Given the description of an element on the screen output the (x, y) to click on. 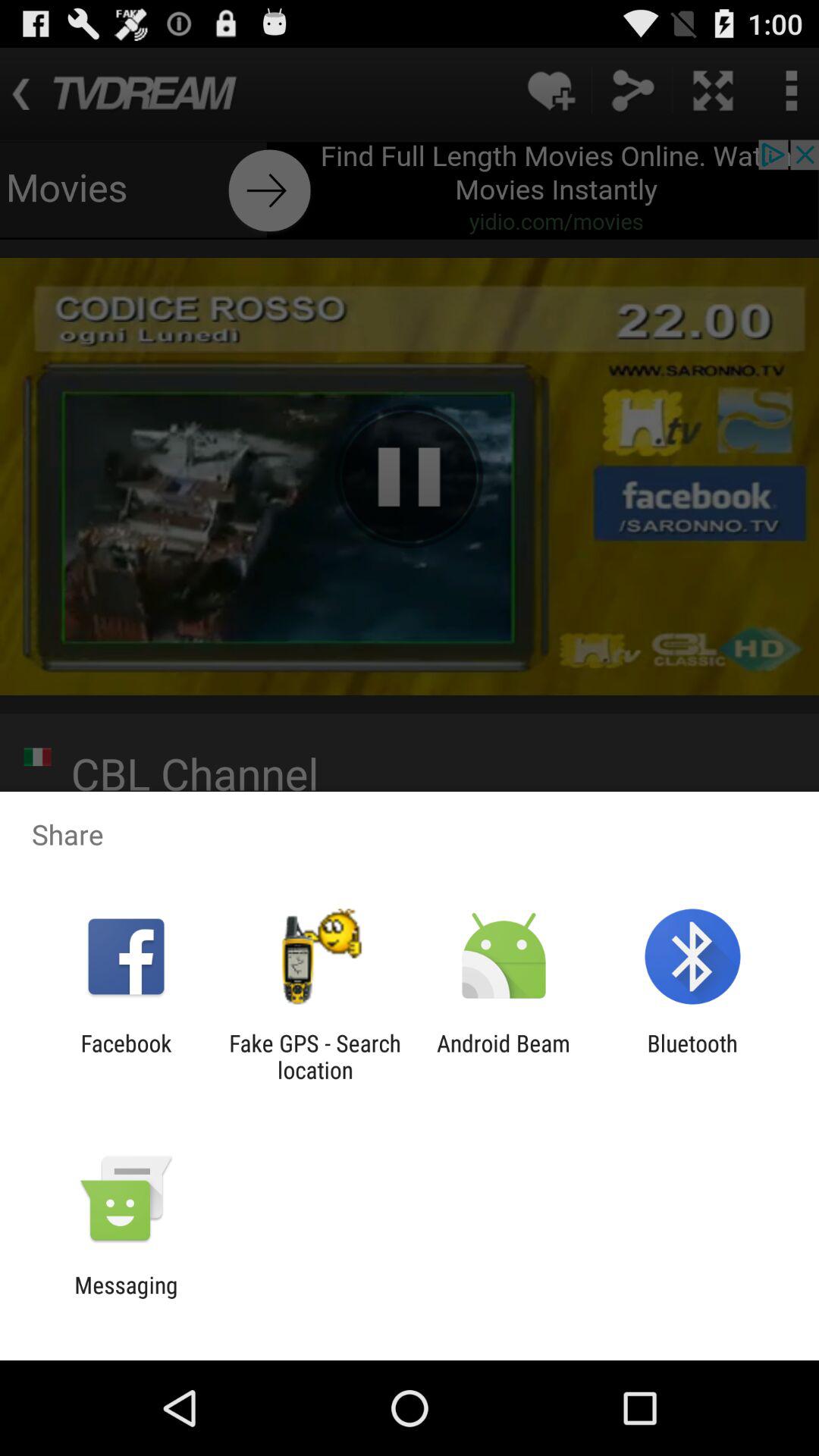
swipe until the messaging (126, 1298)
